Given the description of an element on the screen output the (x, y) to click on. 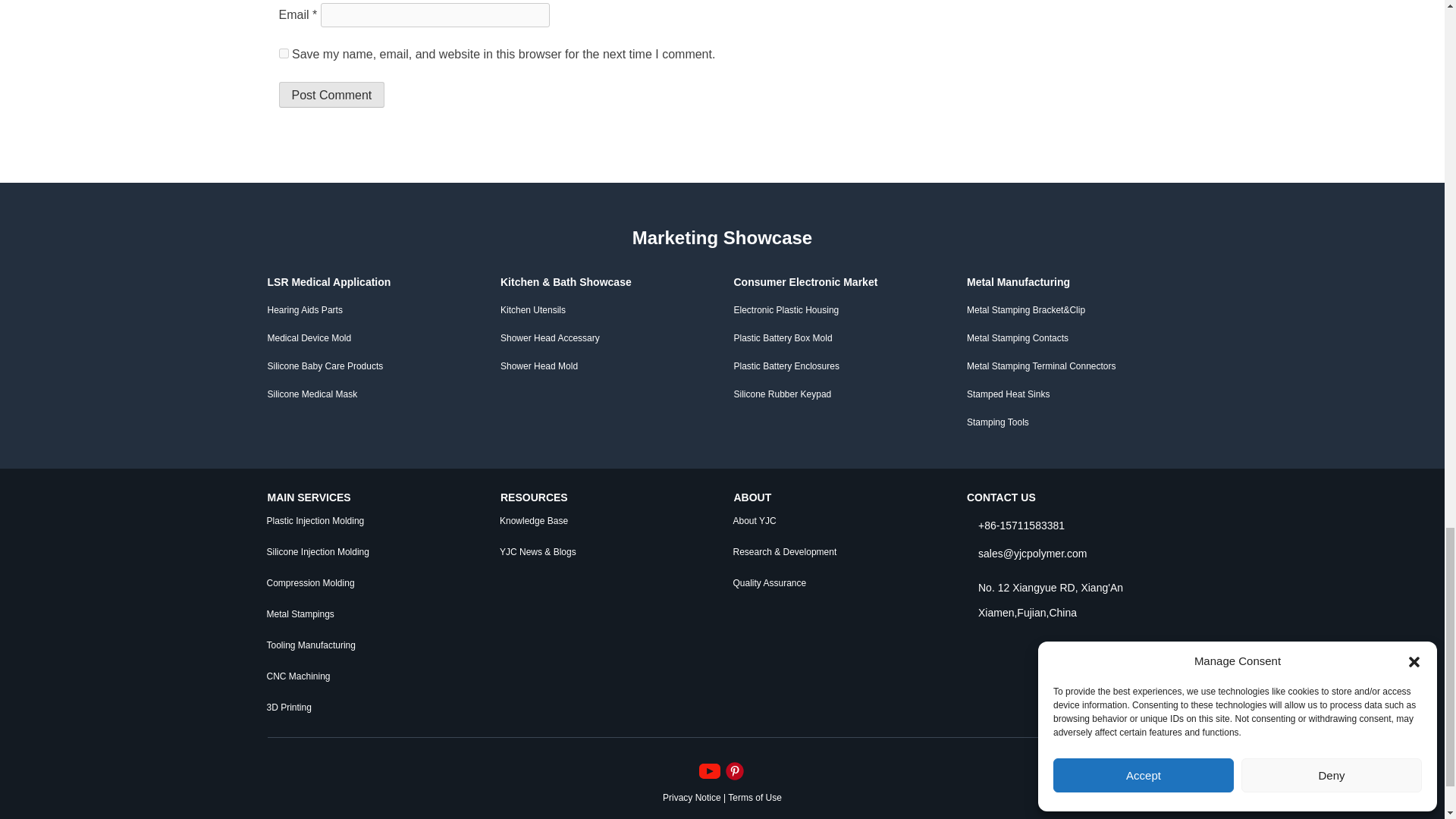
Post Comment (332, 94)
Find us on Pinterest (734, 769)
Find us on Youtube (710, 769)
yes (283, 53)
Terms of Use - Yjcpolymer.com (754, 796)
Privacy Notice (691, 796)
